Given the description of an element on the screen output the (x, y) to click on. 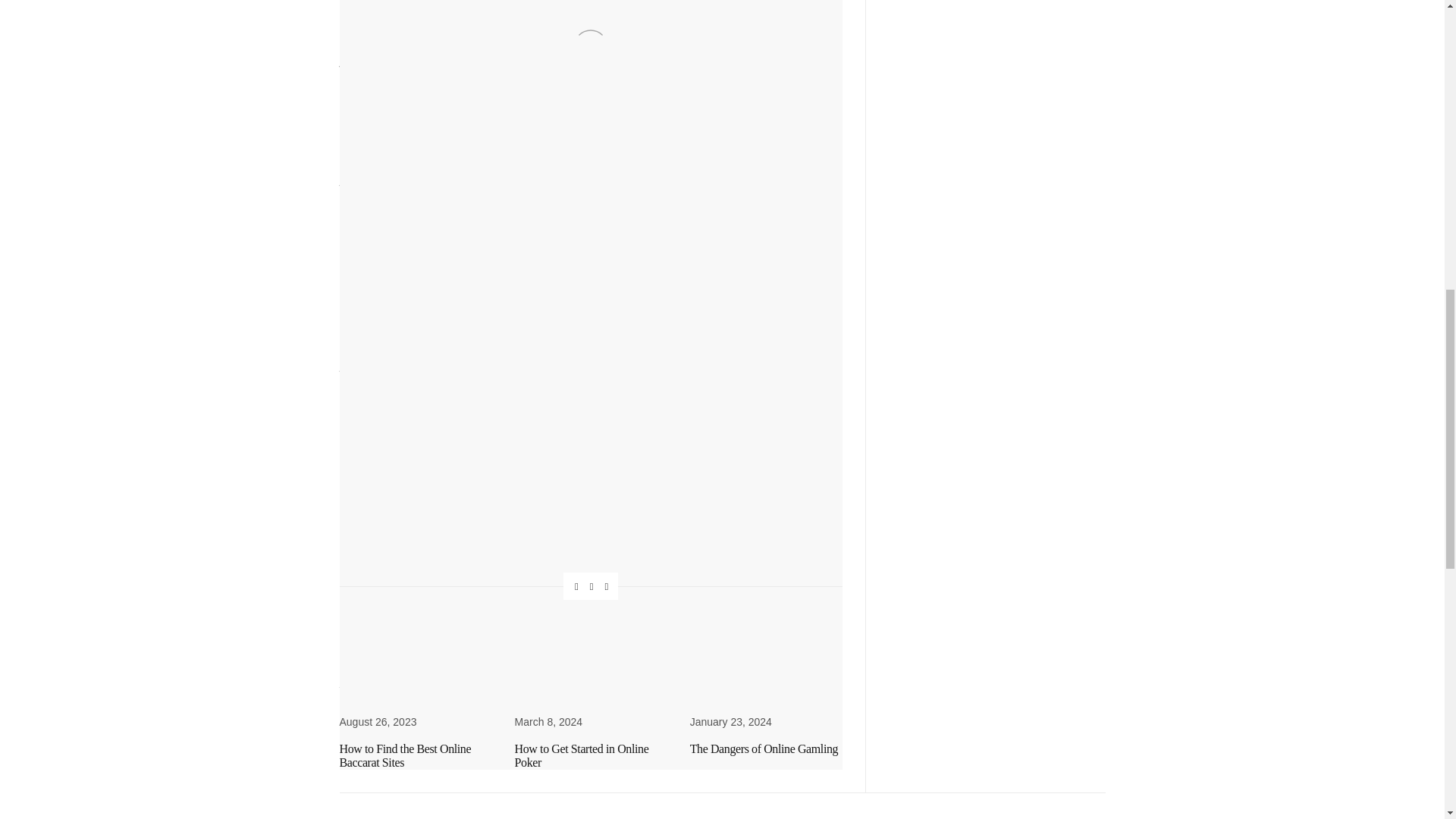
How to Get Started in Online Poker (582, 755)
The Dangers of Online Gamling (764, 748)
How to Find the Best Online Baccarat Sites (405, 755)
Previous Post (465, 642)
Next Post (716, 642)
